Given the description of an element on the screen output the (x, y) to click on. 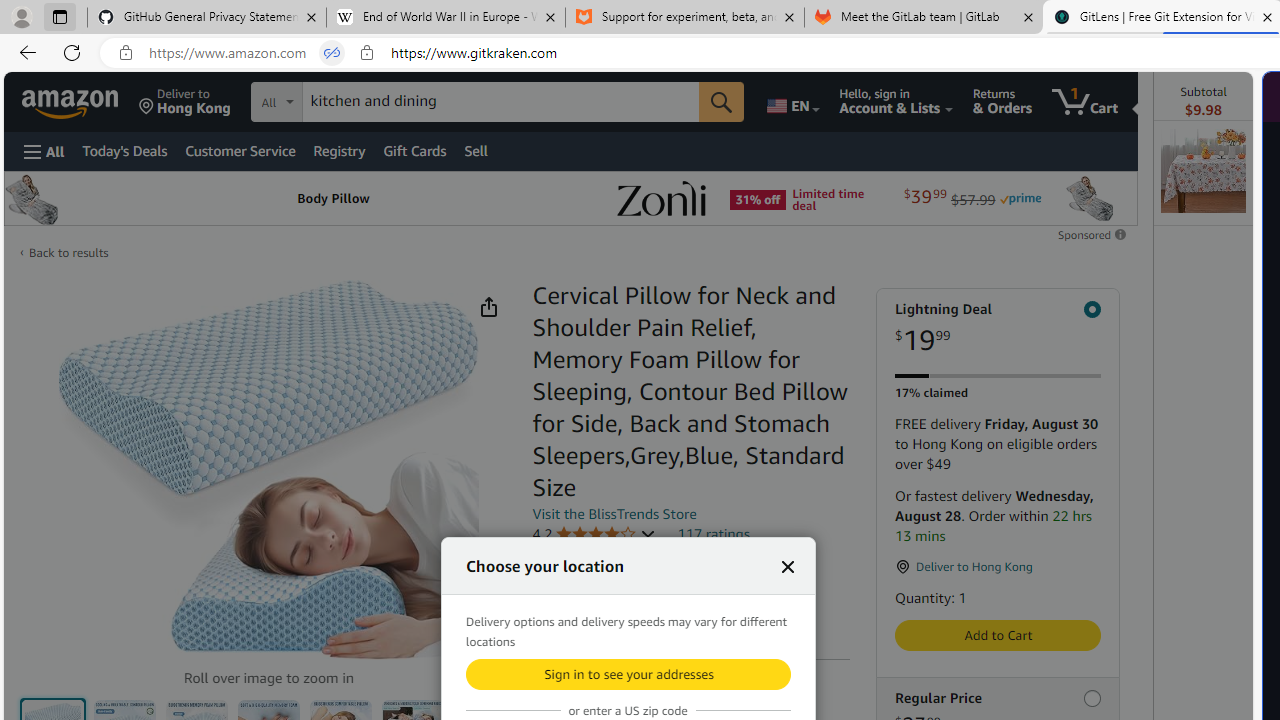
Deliver to Hong Kong (185, 101)
Logo (661, 198)
